Given the description of an element on the screen output the (x, y) to click on. 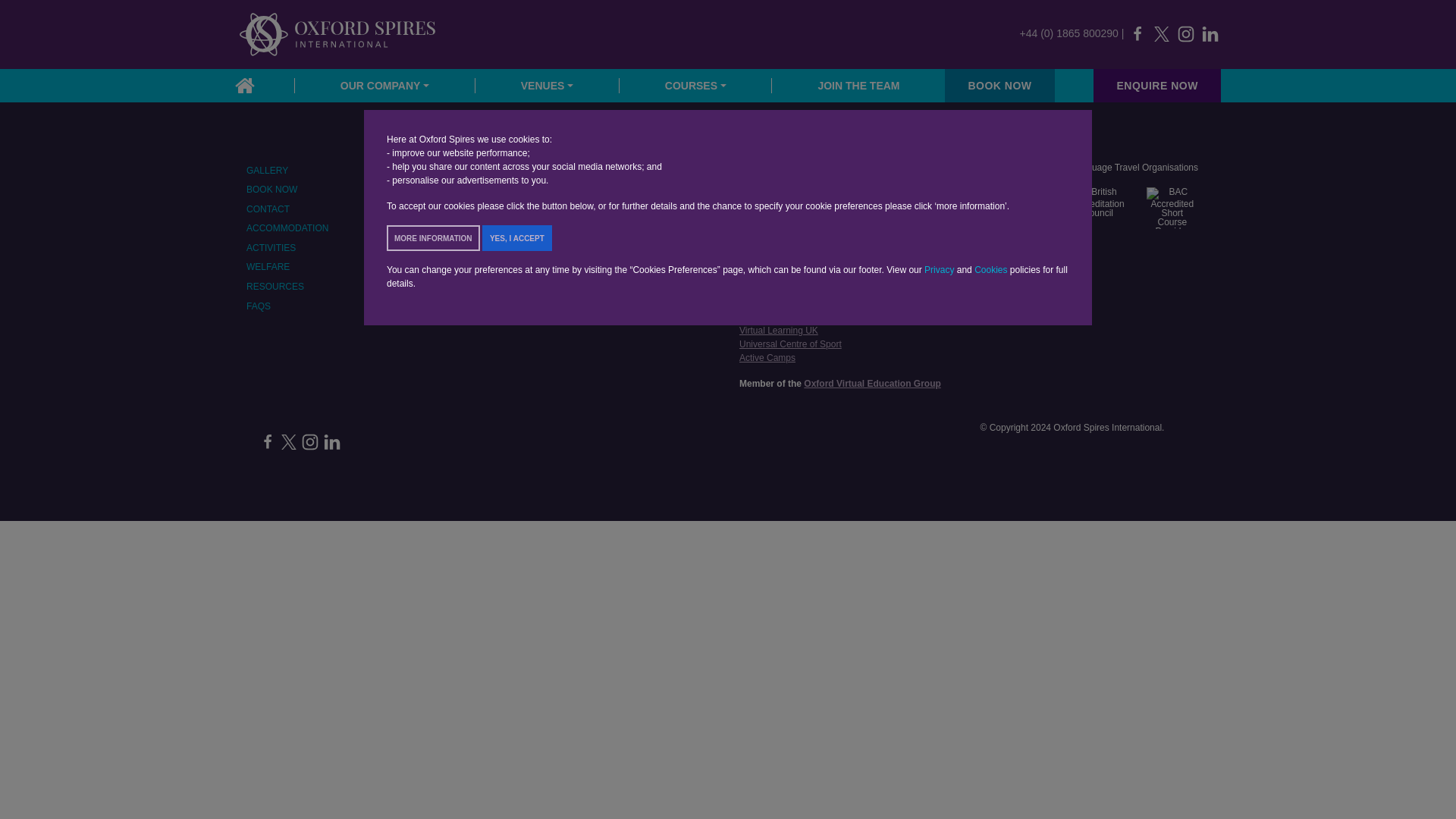
Facebook page (1137, 33)
Privacy Policy (767, 250)
Universal Centre of Sport (790, 343)
Virtual Learning UK (778, 329)
Cookie Policy (766, 264)
Acceptable Use Policy (784, 236)
OUR COMPANY (384, 84)
ENQUIRE NOW (1156, 84)
YES, I ACCEPT (516, 237)
WELFARE (358, 267)
Linkedin (330, 441)
Cookie Preferences (778, 168)
VENUES (547, 84)
Privacy Policy (767, 250)
JOIN THE TEAM (857, 84)
